Given the description of an element on the screen output the (x, y) to click on. 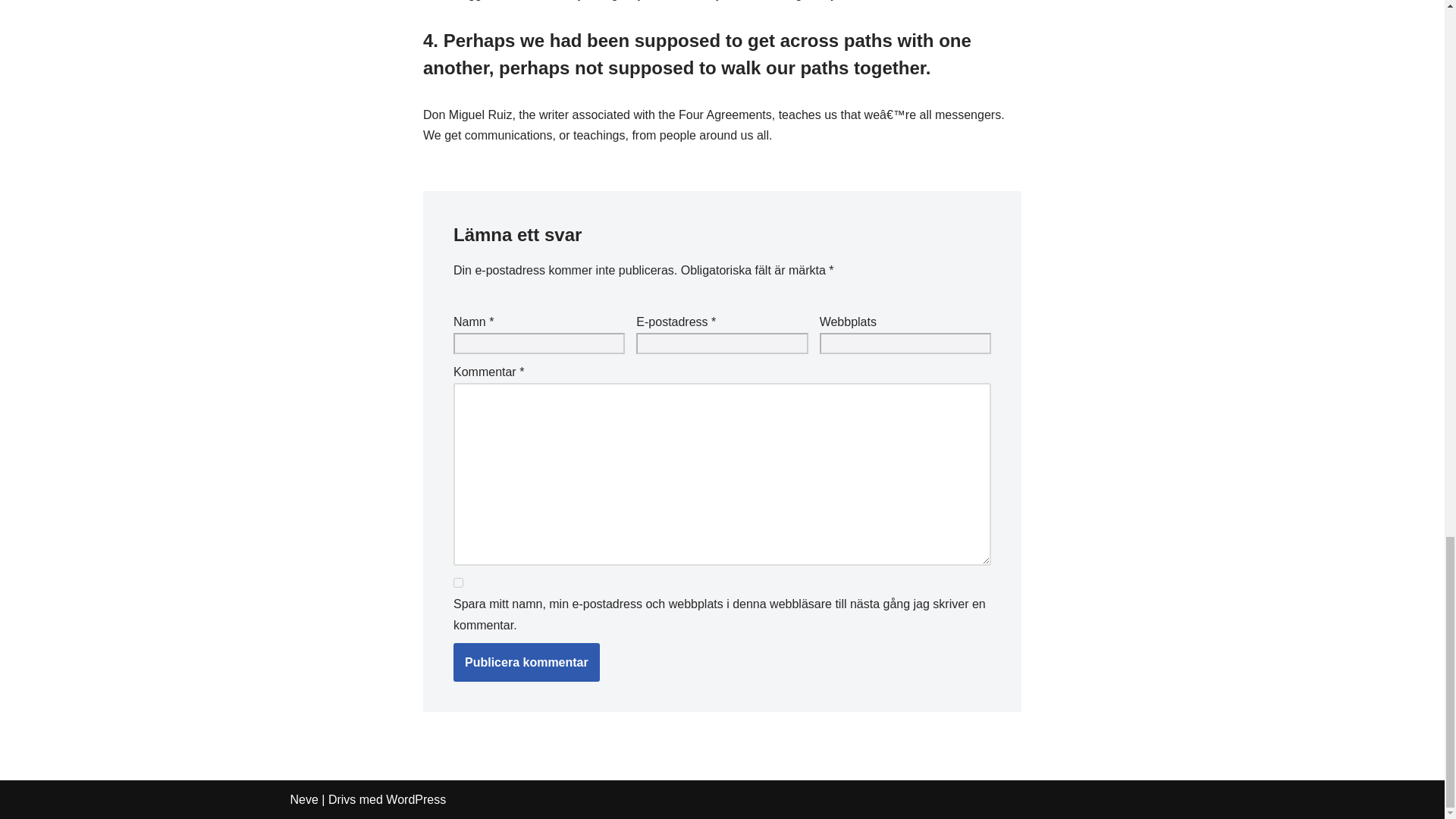
Publicera kommentar (525, 662)
yes (457, 583)
Neve (303, 799)
Publicera kommentar (525, 662)
WordPress (415, 799)
